Given the description of an element on the screen output the (x, y) to click on. 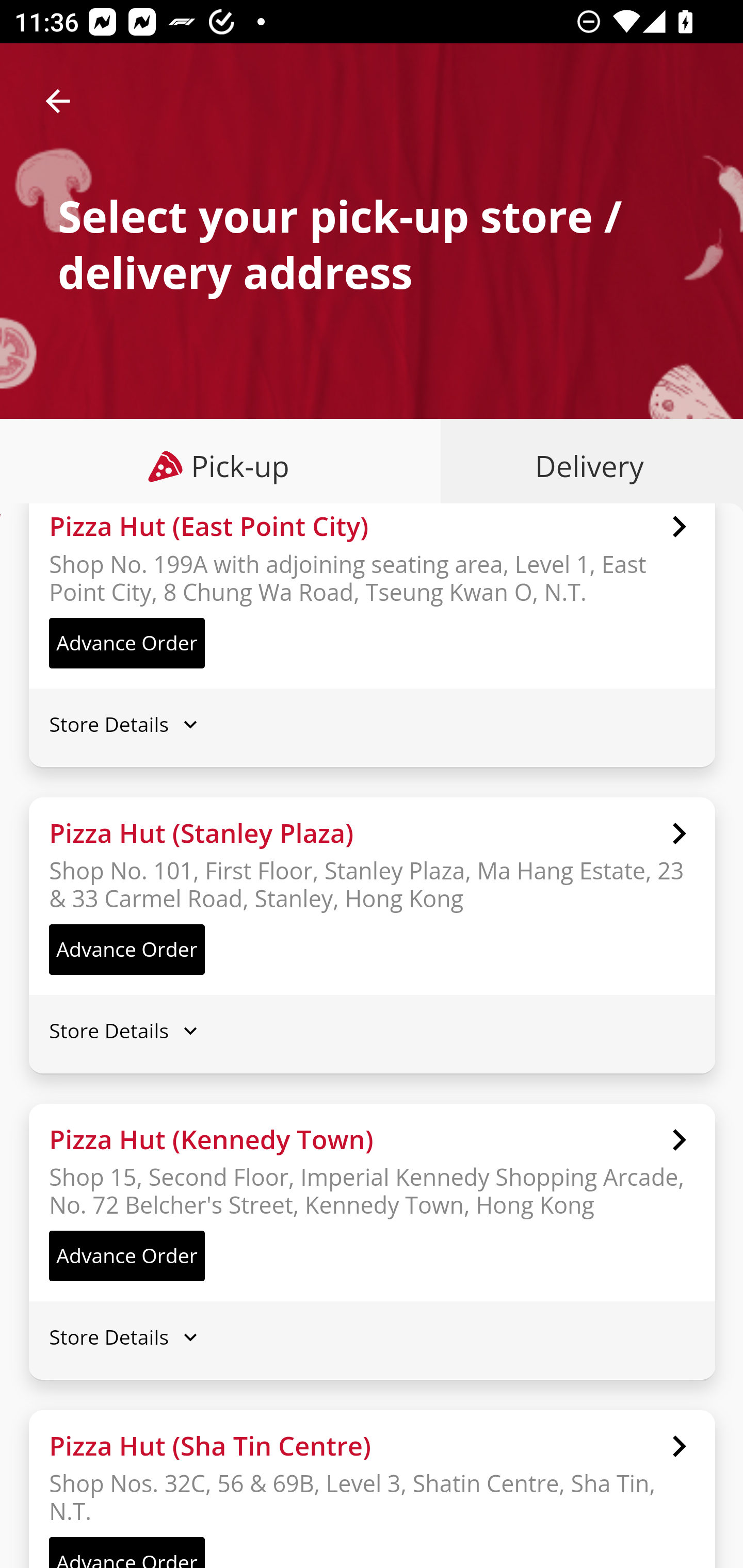
arrow_back (58, 100)
Pick-up (221, 466)
Delivery (585, 466)
Store Details (371, 724)
Store Details (371, 1030)
Store Details (371, 1337)
